Given the description of an element on the screen output the (x, y) to click on. 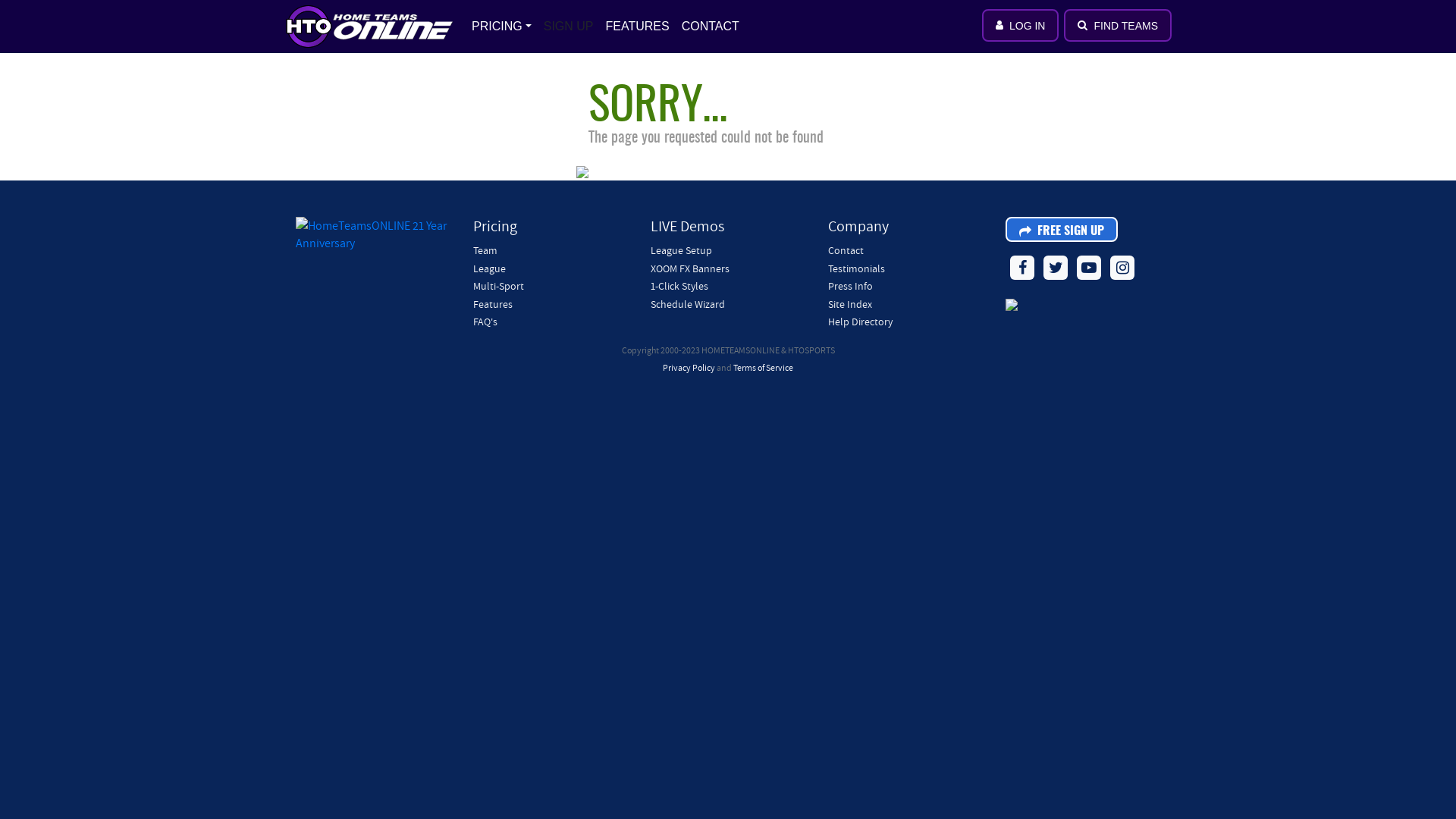
FAQ'S Element type: text (485, 321)
Terms of Service Element type: text (763, 367)
SIGN UP Element type: text (568, 26)
League Setup Element type: text (681, 250)
FREE SIGN UP Element type: text (1061, 228)
Contact Element type: text (845, 250)
Privacy Policy Element type: text (688, 367)
XOOM FX Banners Element type: text (689, 268)
FIND TEAMS Element type: text (1117, 25)
Team Element type: text (485, 250)
Features Element type: text (492, 303)
LOG IN Element type: text (1020, 25)
League Element type: text (489, 268)
PRICING Element type: text (501, 26)
FEATURES Element type: text (637, 26)
Press Info Element type: text (850, 285)
Site Index Element type: text (850, 303)
CONTACT Element type: text (710, 26)
Schedule Wizard Element type: text (687, 303)
Testimonials Element type: text (856, 268)
Help Directory Element type: text (860, 321)
Multi-Sport Element type: text (498, 285)
1-Click Styles Element type: text (679, 285)
